Given the description of an element on the screen output the (x, y) to click on. 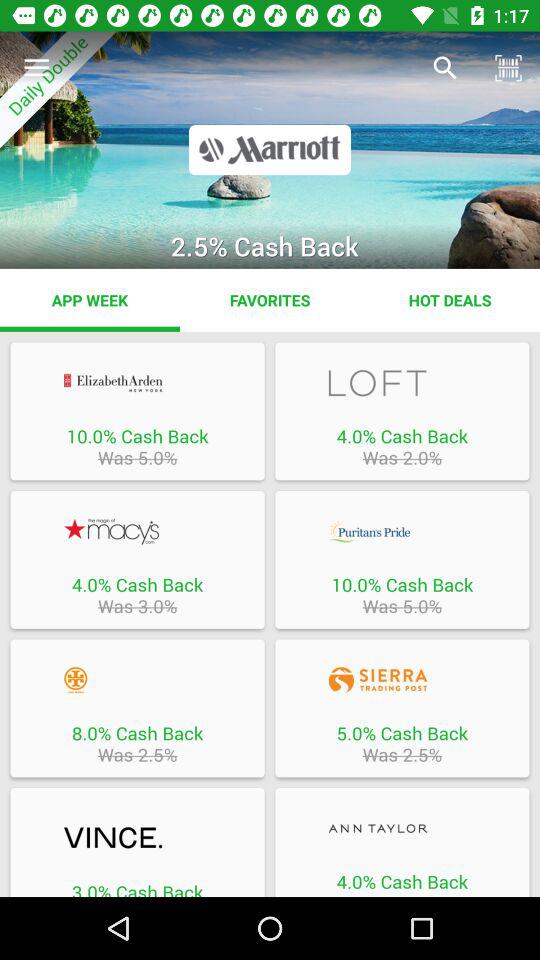
choose item next to favorites app (450, 299)
